Given the description of an element on the screen output the (x, y) to click on. 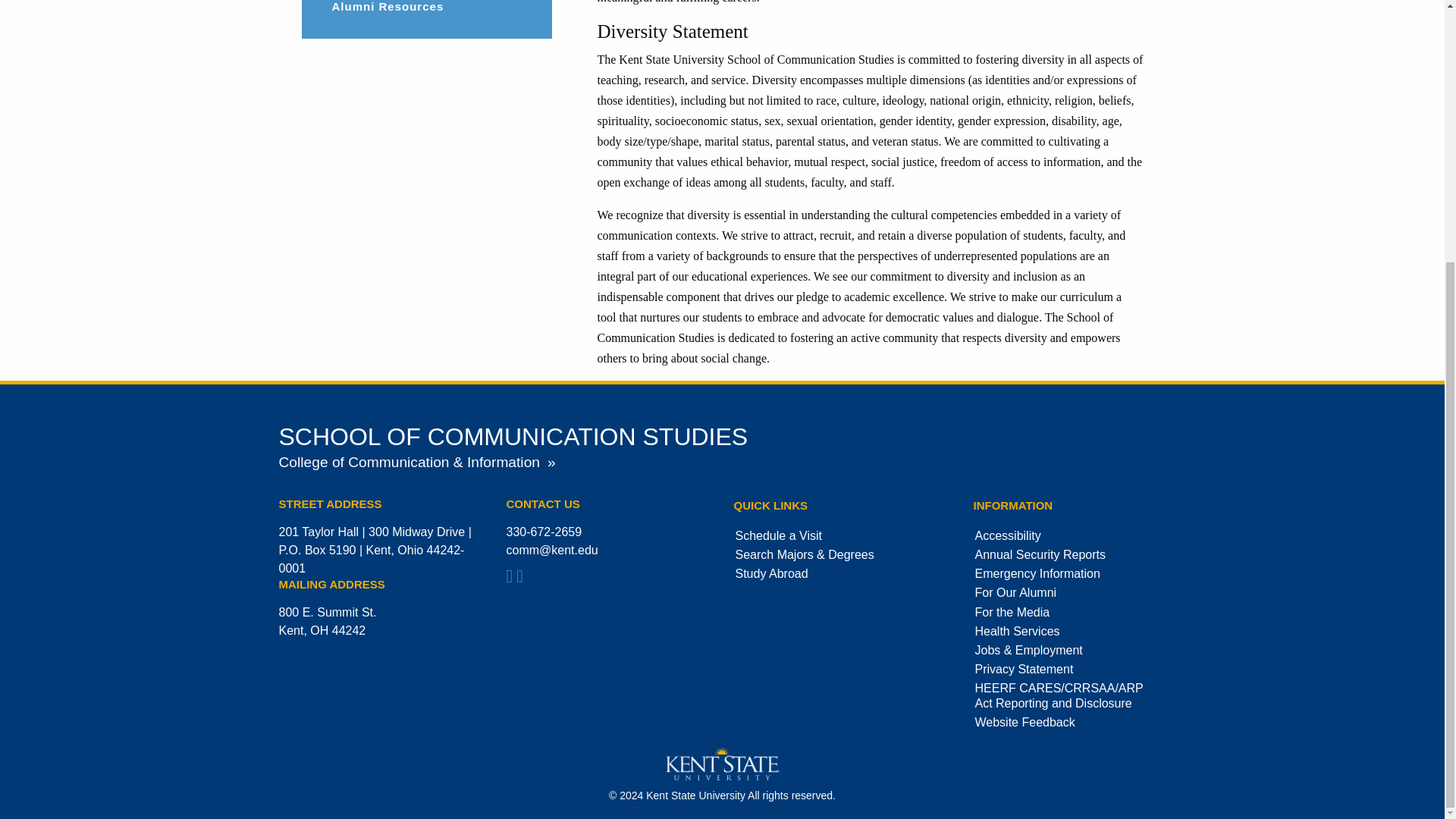
Kent State University logo (721, 763)
